Given the description of an element on the screen output the (x, y) to click on. 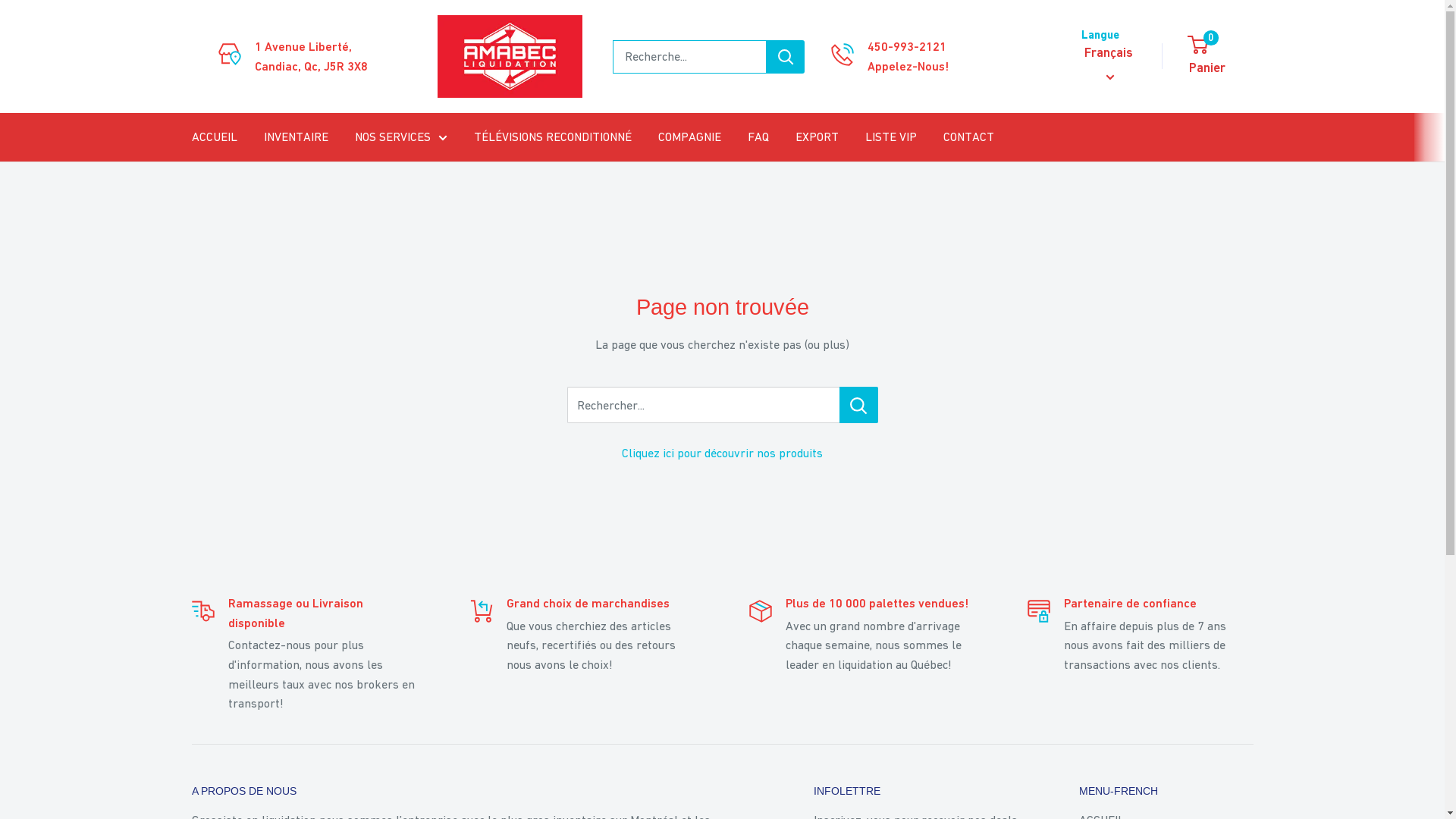
COMPAGNIE Element type: text (689, 136)
FAQ Element type: text (757, 136)
ACCUEIL Element type: text (213, 136)
Amabec Liquidation Element type: text (509, 56)
CONTACT Element type: text (968, 136)
en Element type: text (1116, 140)
A PROPOS DE NOUS Element type: text (475, 791)
LISTE VIP Element type: text (890, 136)
EXPORT Element type: text (815, 136)
NOS SERVICES Element type: text (400, 136)
0
Panier Element type: text (1221, 56)
MENU-FRENCH Element type: text (1165, 791)
fr Element type: text (1116, 118)
INVENTAIRE Element type: text (295, 136)
